Given the description of an element on the screen output the (x, y) to click on. 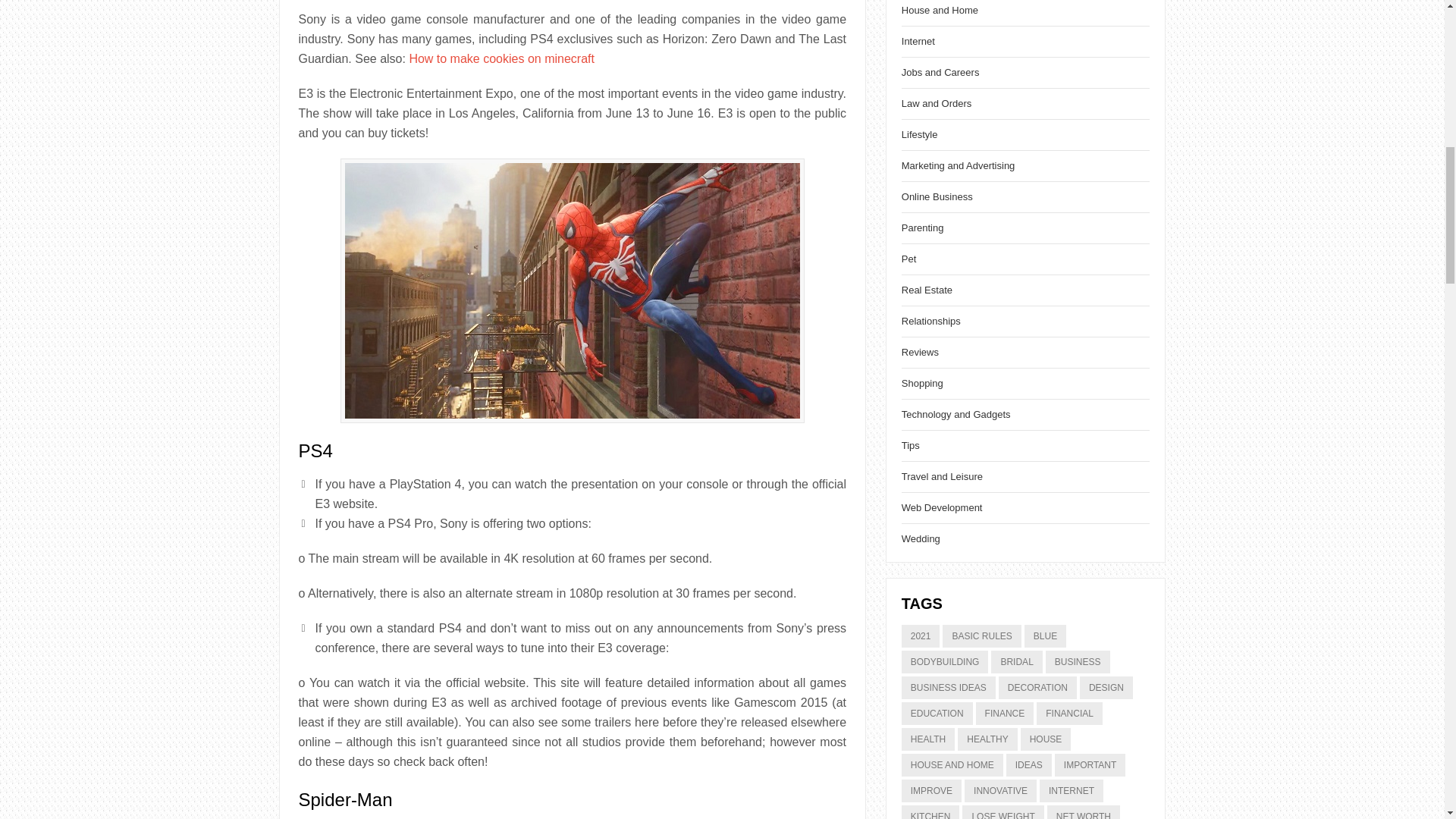
How to make cookies on minecraft (501, 58)
